Given the description of an element on the screen output the (x, y) to click on. 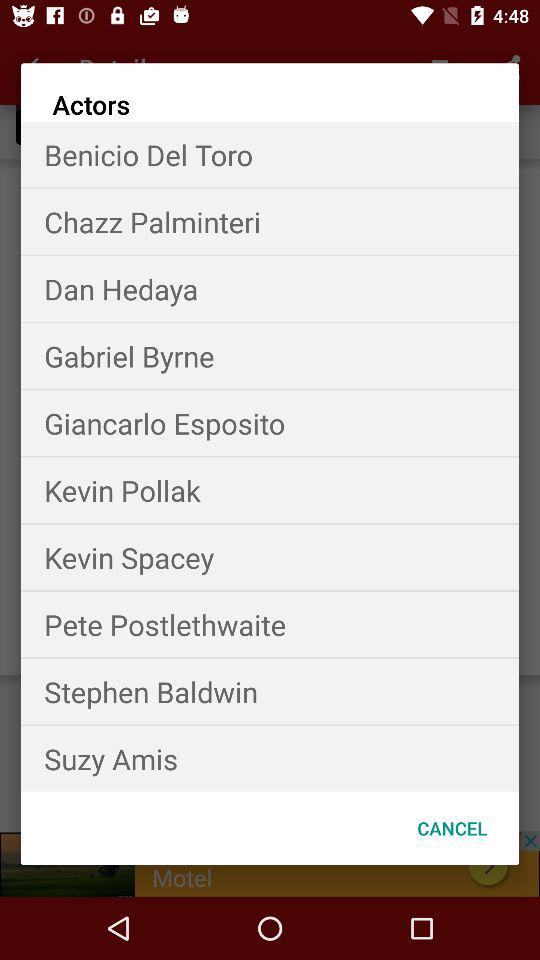
scroll to the    kevin pollak icon (269, 489)
